Given the description of an element on the screen output the (x, y) to click on. 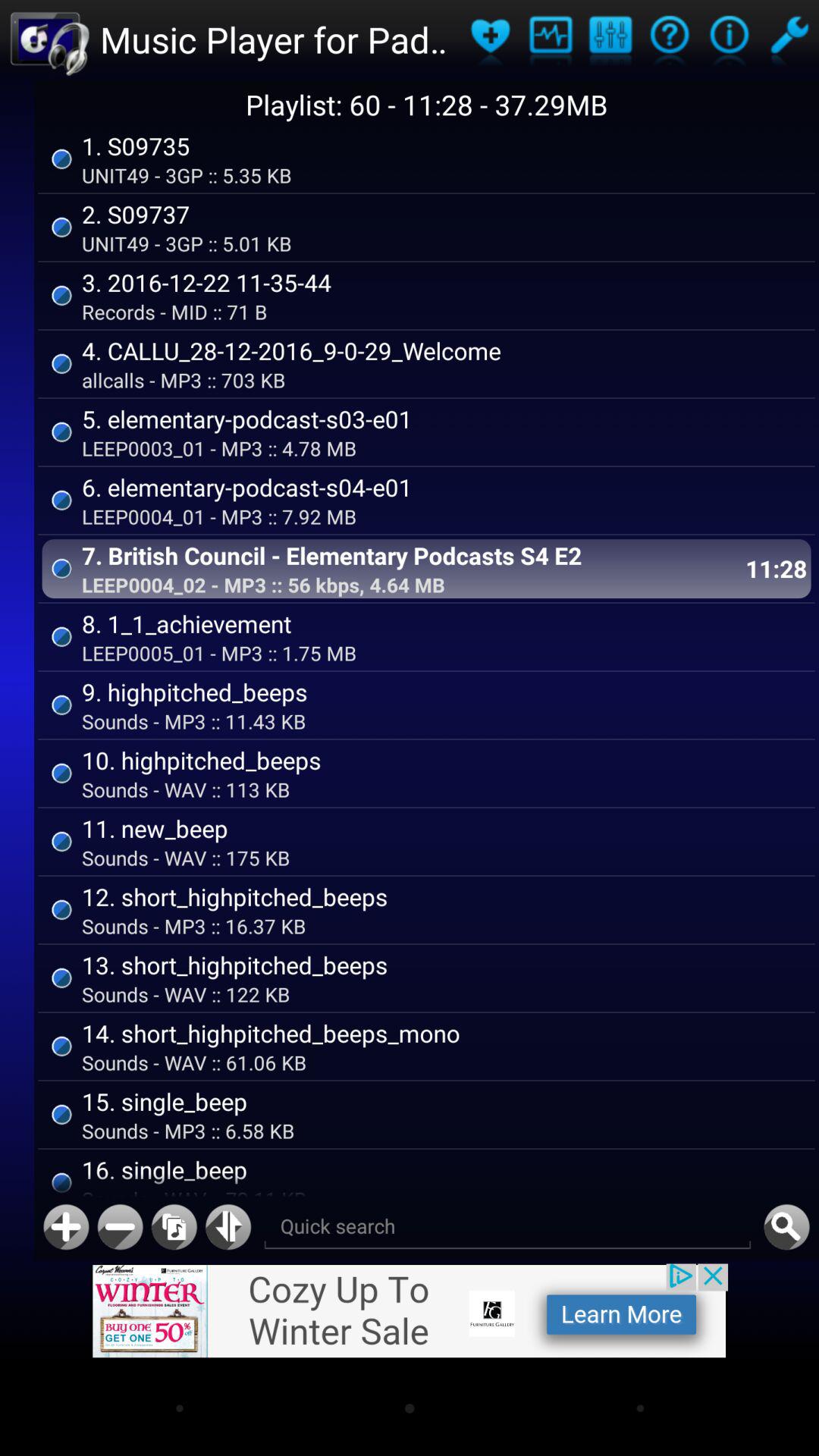
to search (786, 1226)
